Given the description of an element on the screen output the (x, y) to click on. 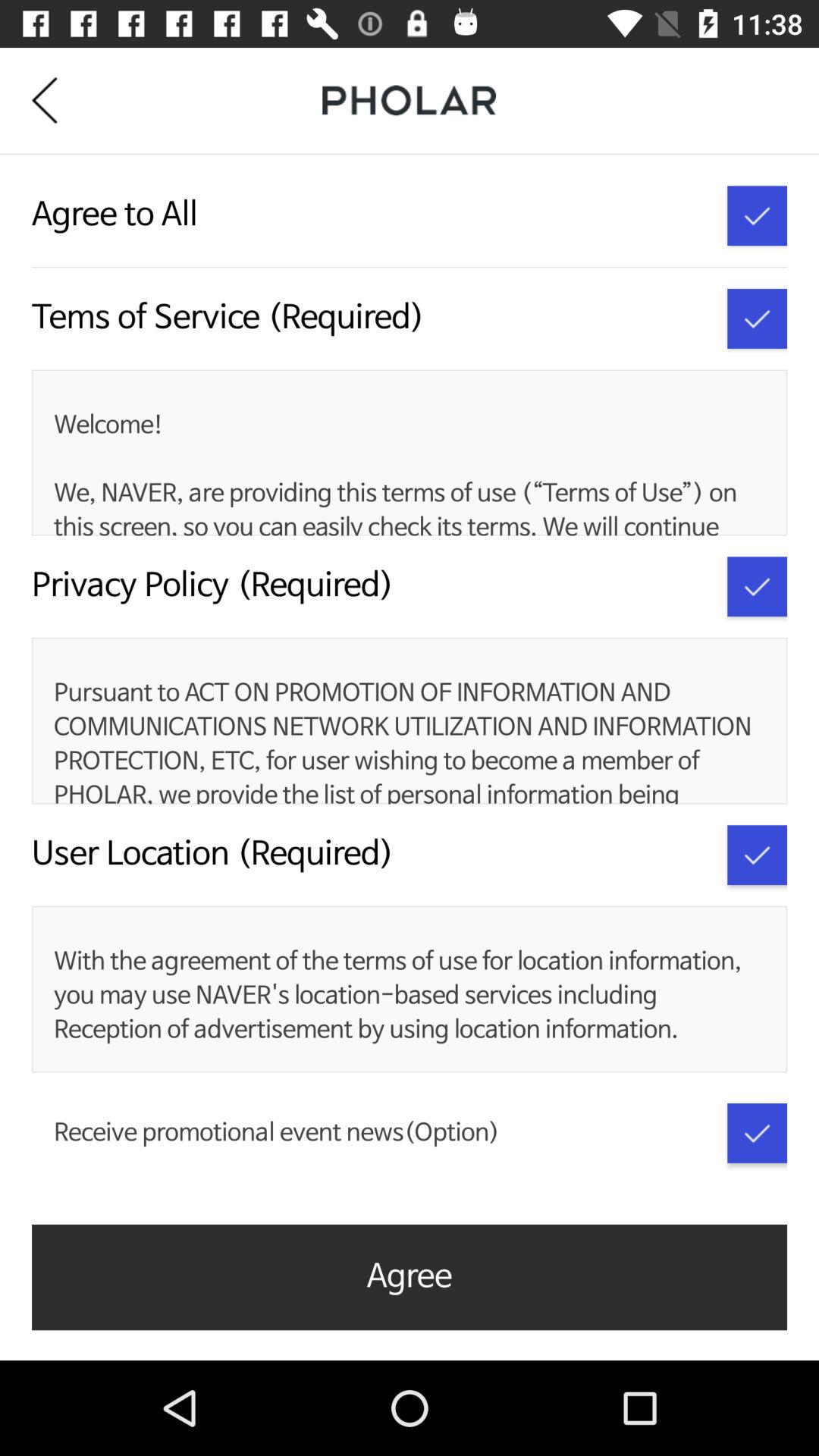
toggle promotional notifications (757, 1133)
